Given the description of an element on the screen output the (x, y) to click on. 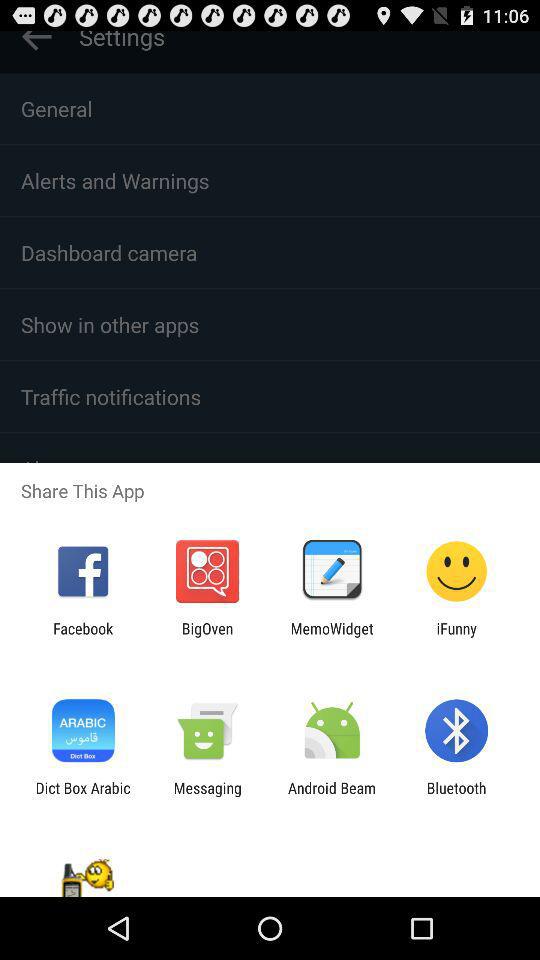
choose bigoven (207, 637)
